Given the description of an element on the screen output the (x, y) to click on. 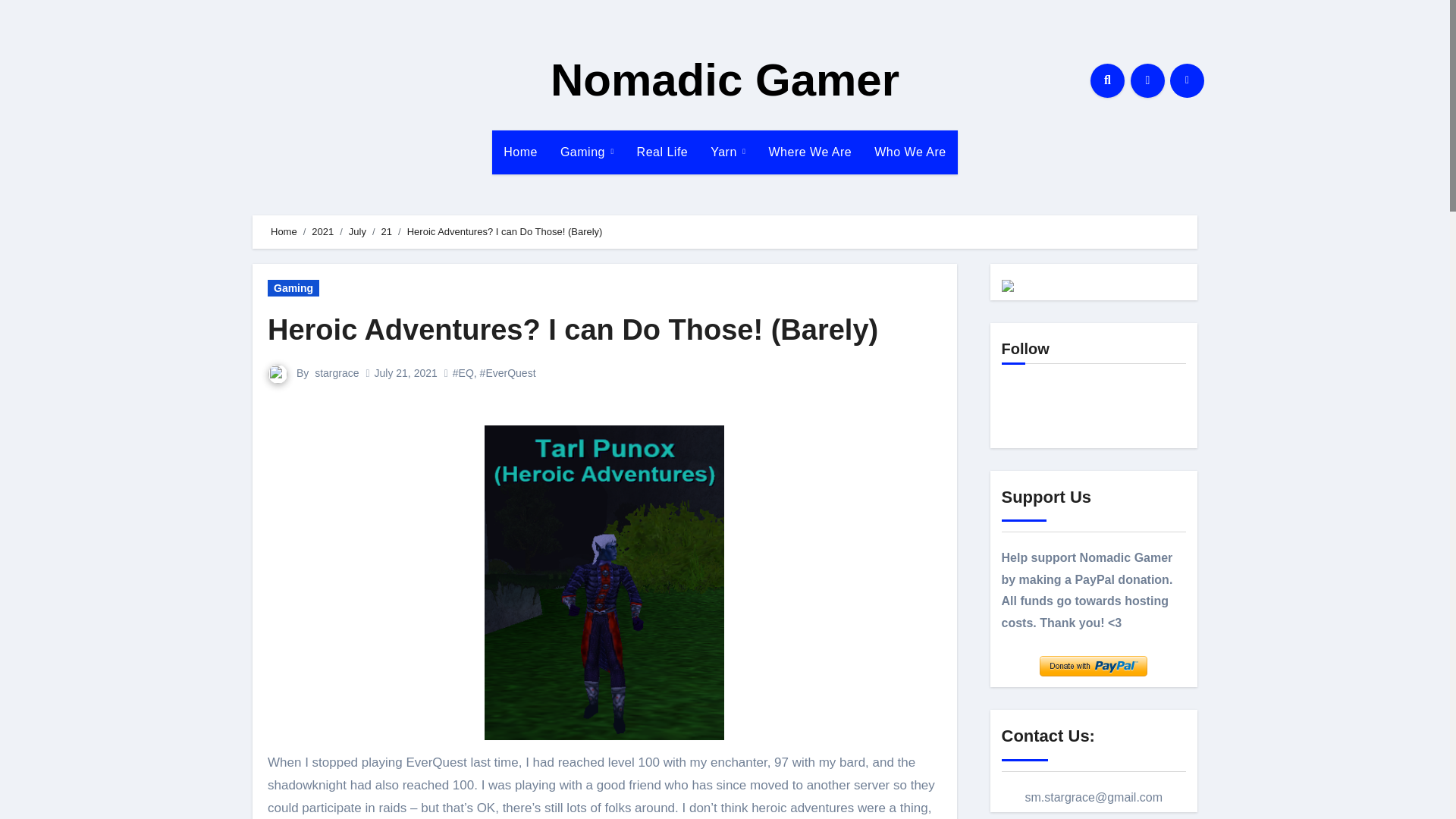
Where We Are (810, 152)
Home (283, 231)
21 (386, 231)
Gaming (292, 288)
Nomadic Gamer (724, 79)
Yarn (727, 152)
Who We Are (910, 152)
Where We Are (810, 152)
Home (520, 152)
Yarn (727, 152)
